Given the description of an element on the screen output the (x, y) to click on. 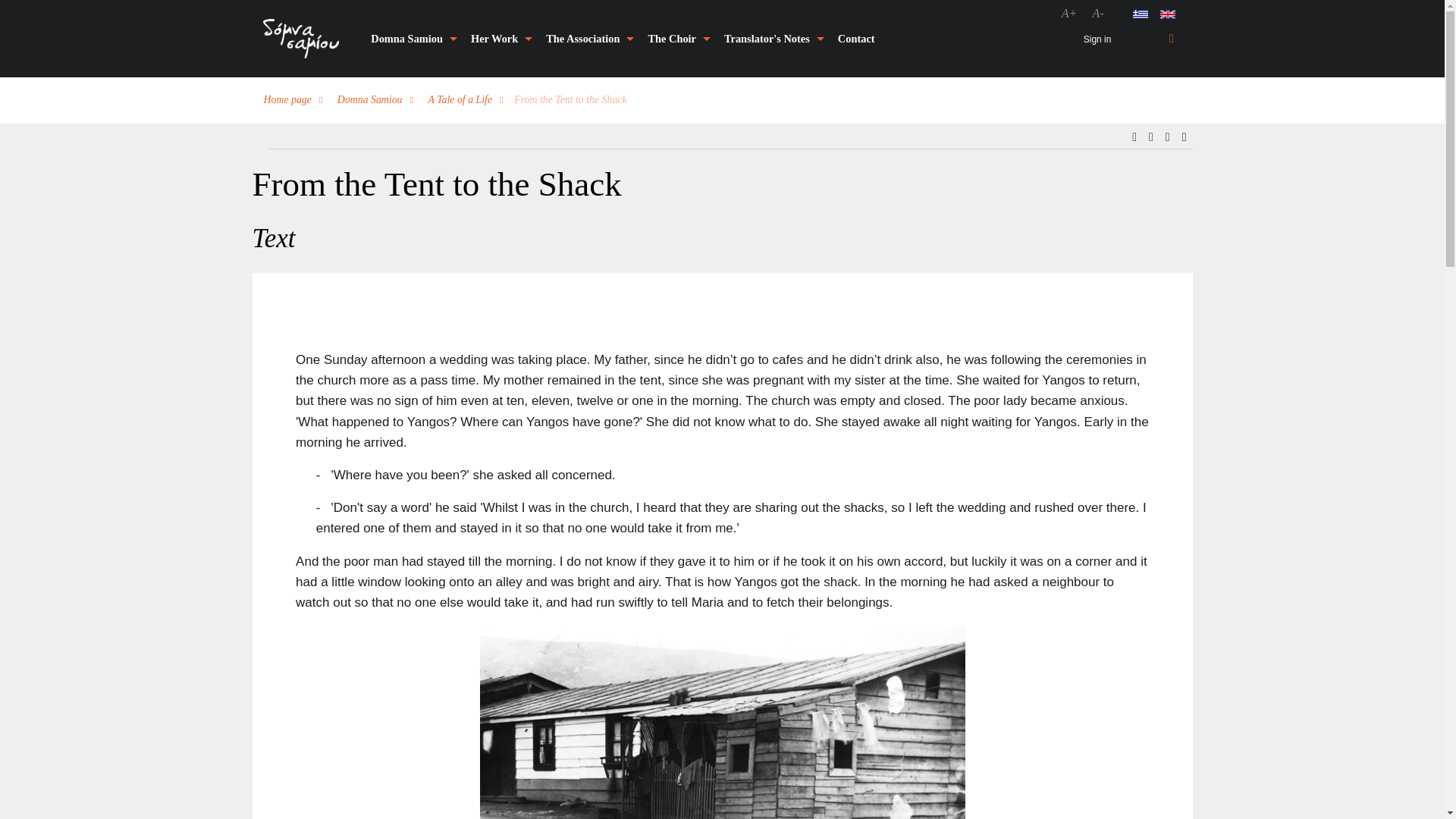
Domna Samiou (411, 38)
The Association (586, 38)
Domna Samiou Greek Folk Music Association (586, 38)
English (1167, 13)
Her Work (498, 38)
English (1167, 13)
